Given the description of an element on the screen output the (x, y) to click on. 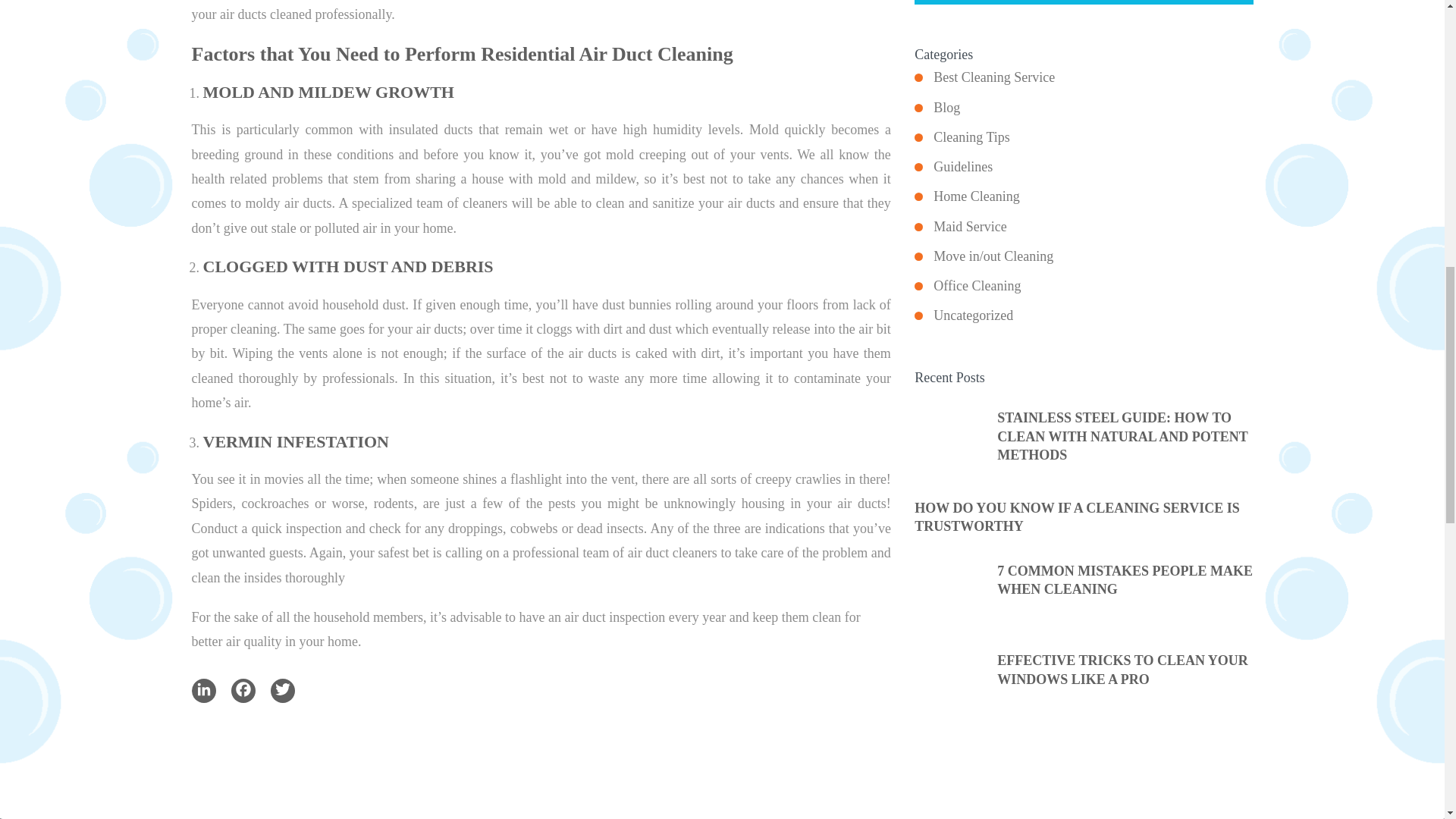
Facebook (242, 690)
Twitter (281, 690)
Blog (936, 107)
LinkedIn (202, 690)
Facebook (242, 690)
LinkedIn (202, 690)
Best Cleaning Service (984, 77)
Twitter (281, 690)
